Given the description of an element on the screen output the (x, y) to click on. 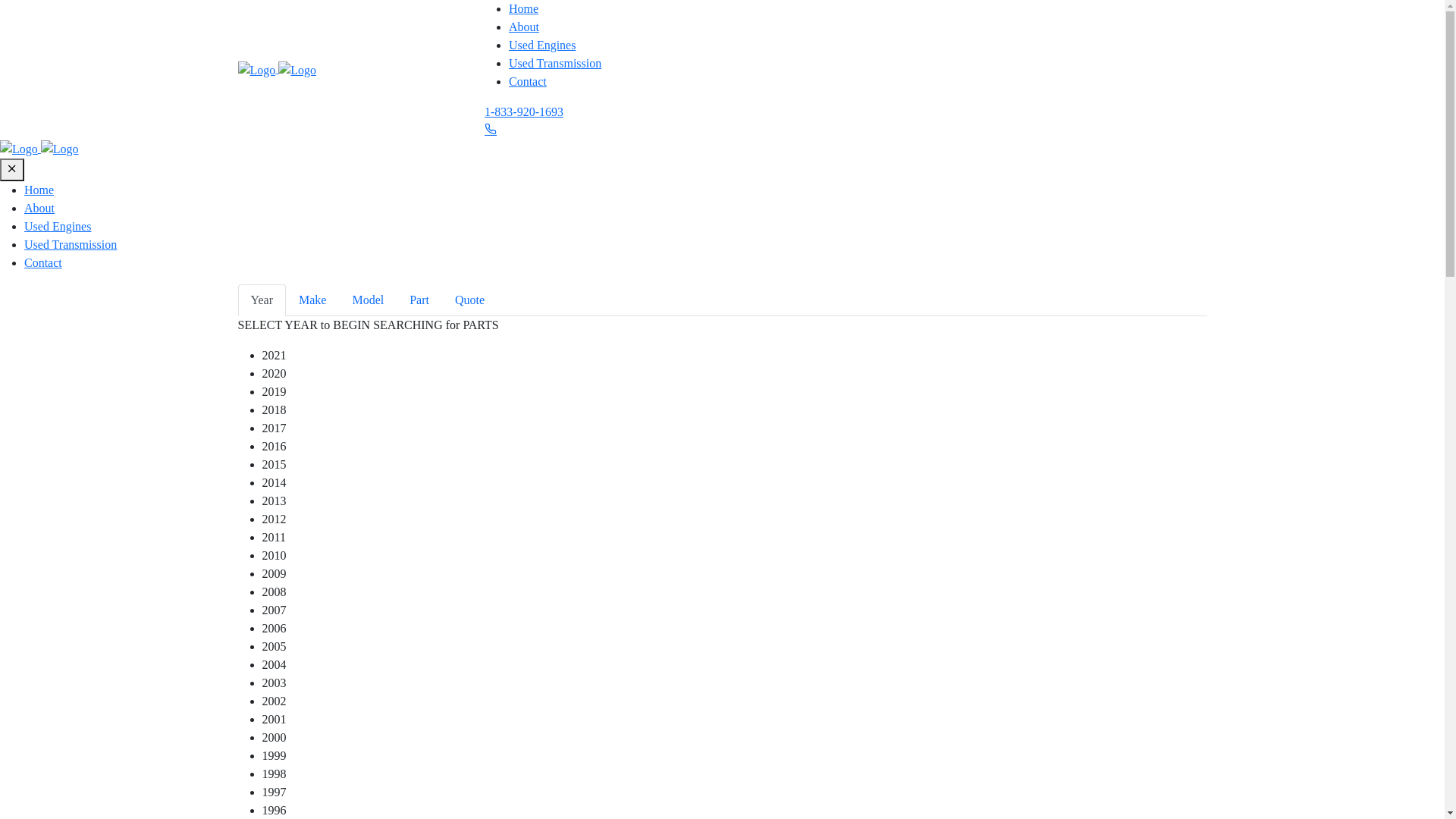
Part Element type: text (419, 300)
About Element type: text (523, 26)
Quote Element type: text (469, 300)
About Element type: text (39, 207)
1-833-920-1693 Element type: text (523, 111)
Used Transmission Element type: text (70, 244)
Used Engines Element type: text (541, 44)
Year Element type: text (261, 300)
Used Engines Element type: text (57, 225)
Contact Element type: text (527, 81)
Contact Element type: text (43, 262)
Home Element type: text (523, 8)
Home Element type: text (38, 189)
Model Element type: text (367, 300)
Used Transmission Element type: text (554, 62)
Make Element type: text (311, 300)
